Given the description of an element on the screen output the (x, y) to click on. 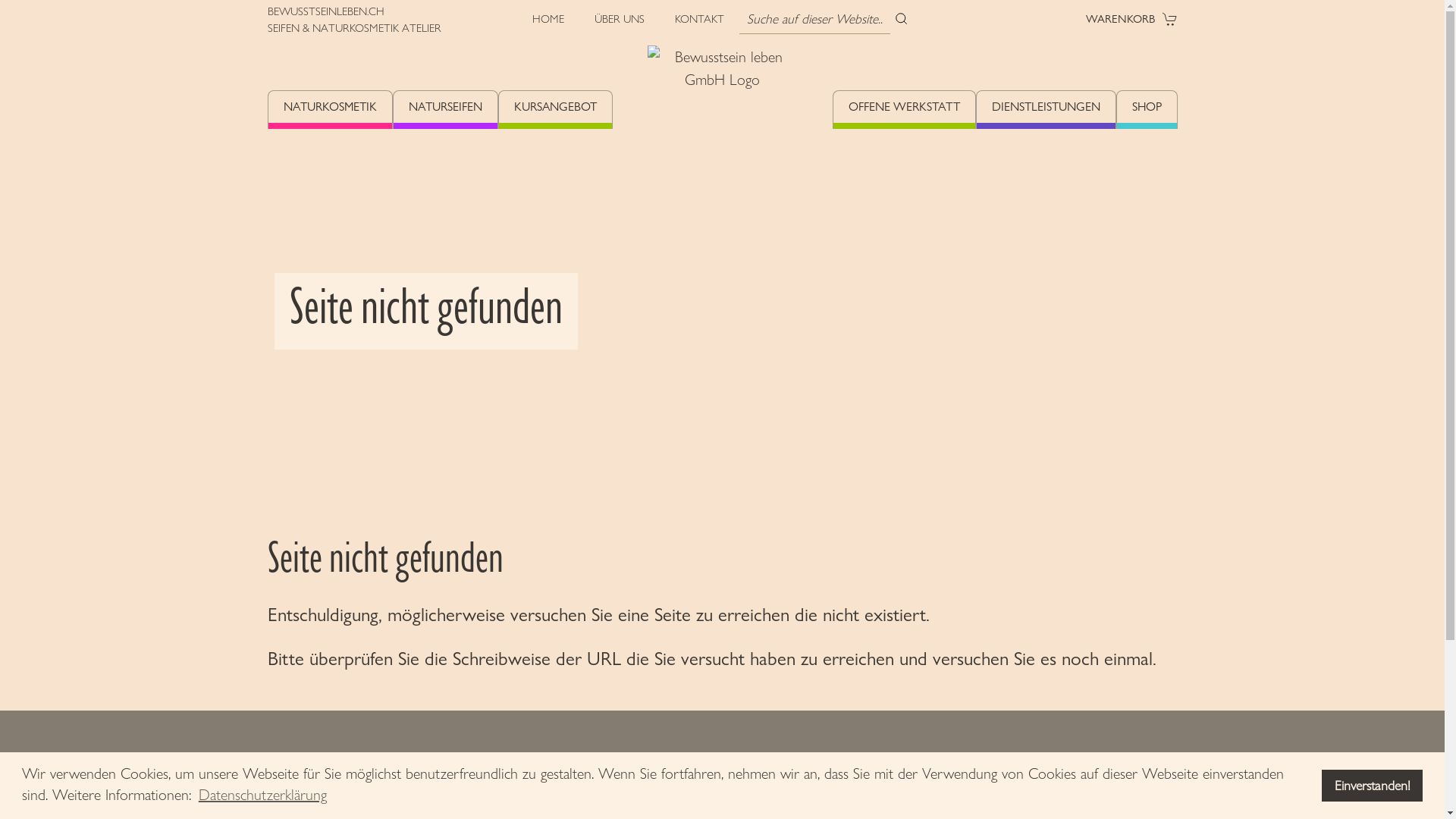
KONTAKT Element type: text (699, 18)
SHOP Element type: text (1146, 109)
Einverstanden! Element type: text (1371, 785)
KURSANGEBOT Element type: text (554, 109)
SEIFEN & NATURKOSMETIK ATELIER Element type: text (353, 27)
HOME Element type: text (555, 18)
OFFENE WERKSTATT Element type: text (903, 109)
Home Element type: hover (369, 789)
BEWUSSTSEINLEBEN.CH Element type: text (324, 11)
WARENKORB Element type: text (1131, 18)
NATURKOSMETIK Element type: text (330, 109)
DIENSTLEISTUNGEN Element type: text (1045, 109)
Home Element type: hover (722, 121)
NATURSEIFEN Element type: text (444, 109)
